Given the description of an element on the screen output the (x, y) to click on. 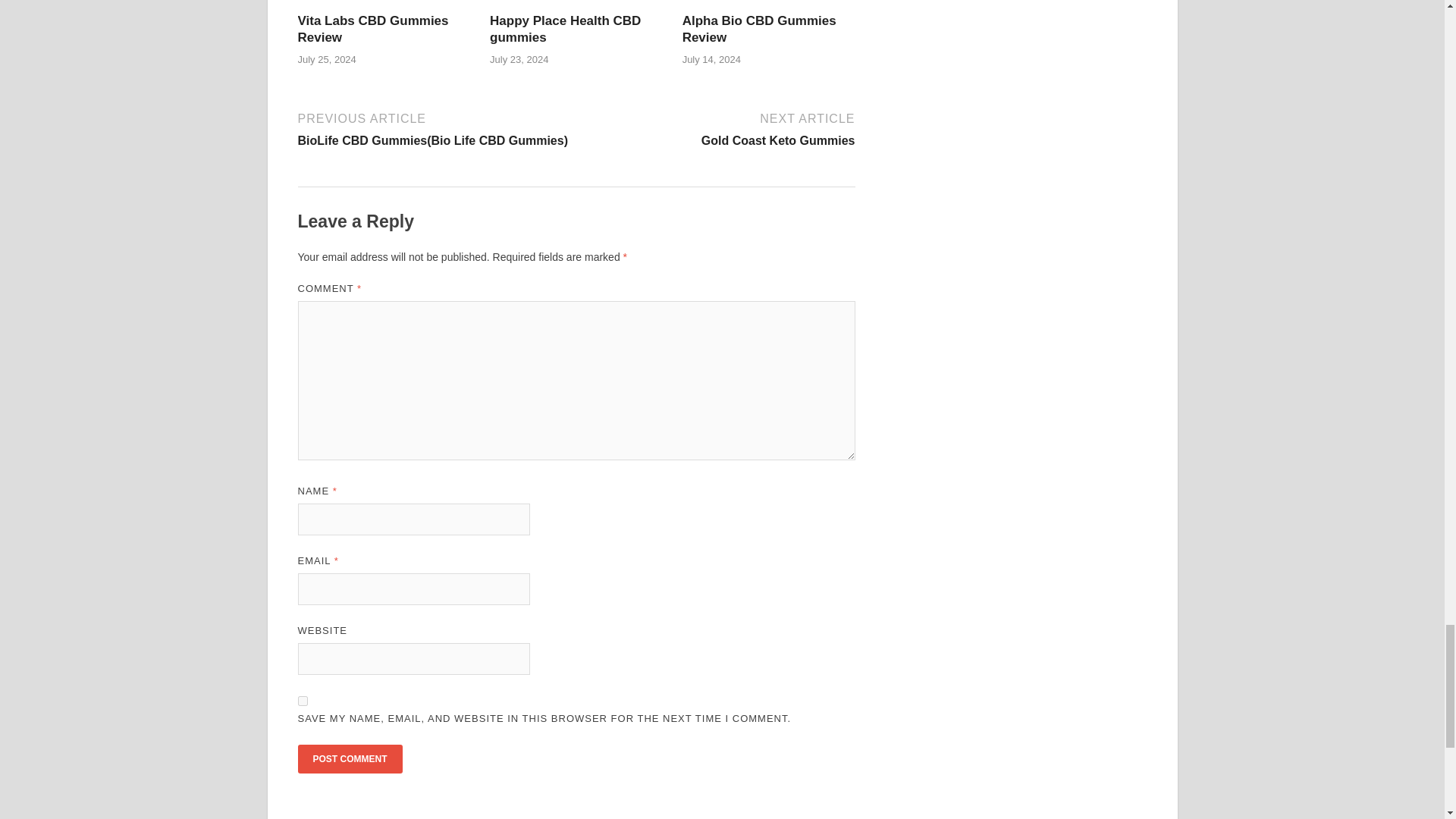
Vita Labs CBD Gummies Review (372, 29)
Vita Labs CBD Gummies Review (372, 29)
Post Comment (349, 758)
yes (302, 700)
Happy Place Health CBD gummies (564, 29)
